Given the description of an element on the screen output the (x, y) to click on. 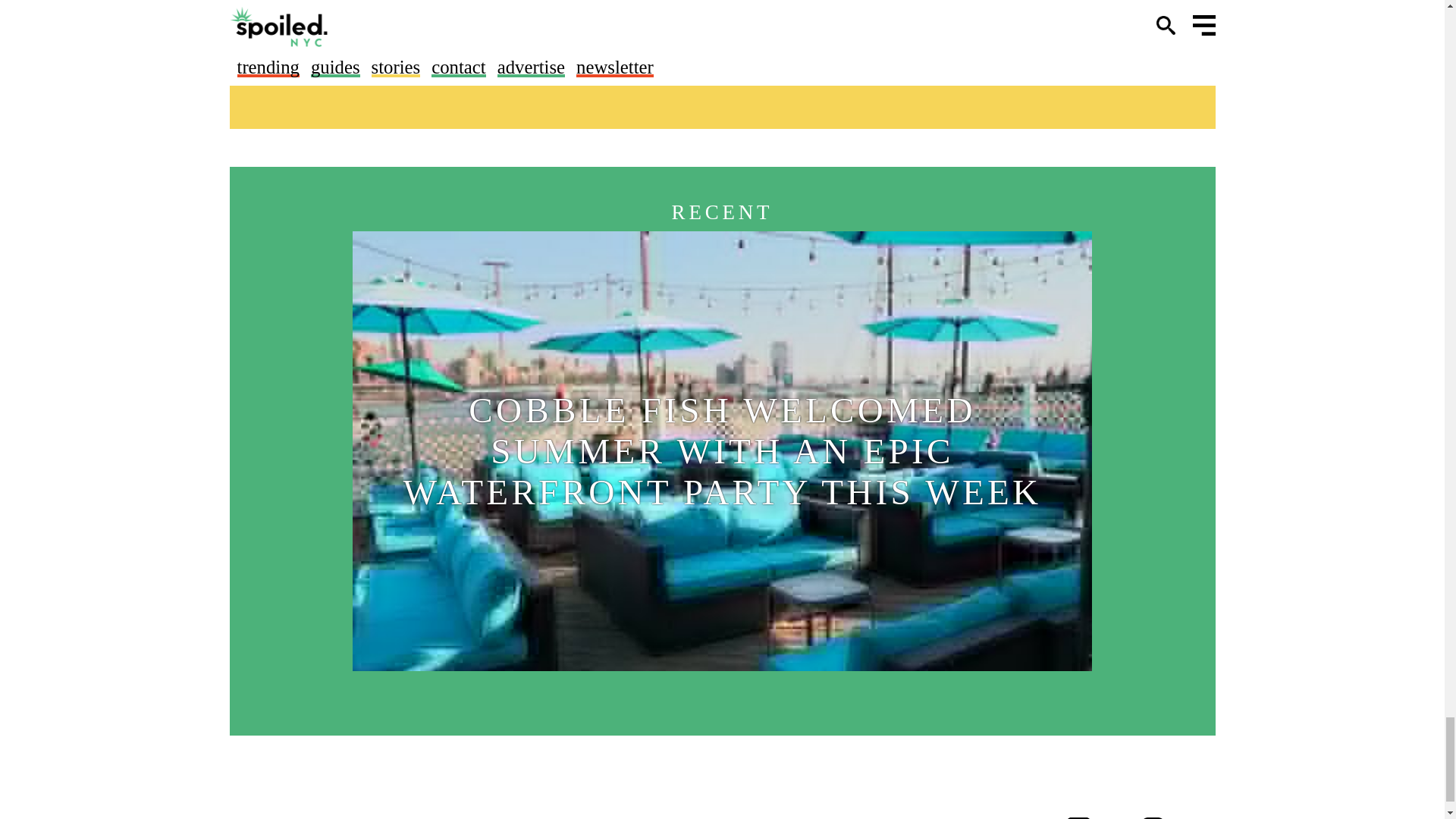
SUBMIT (915, 40)
